Given the description of an element on the screen output the (x, y) to click on. 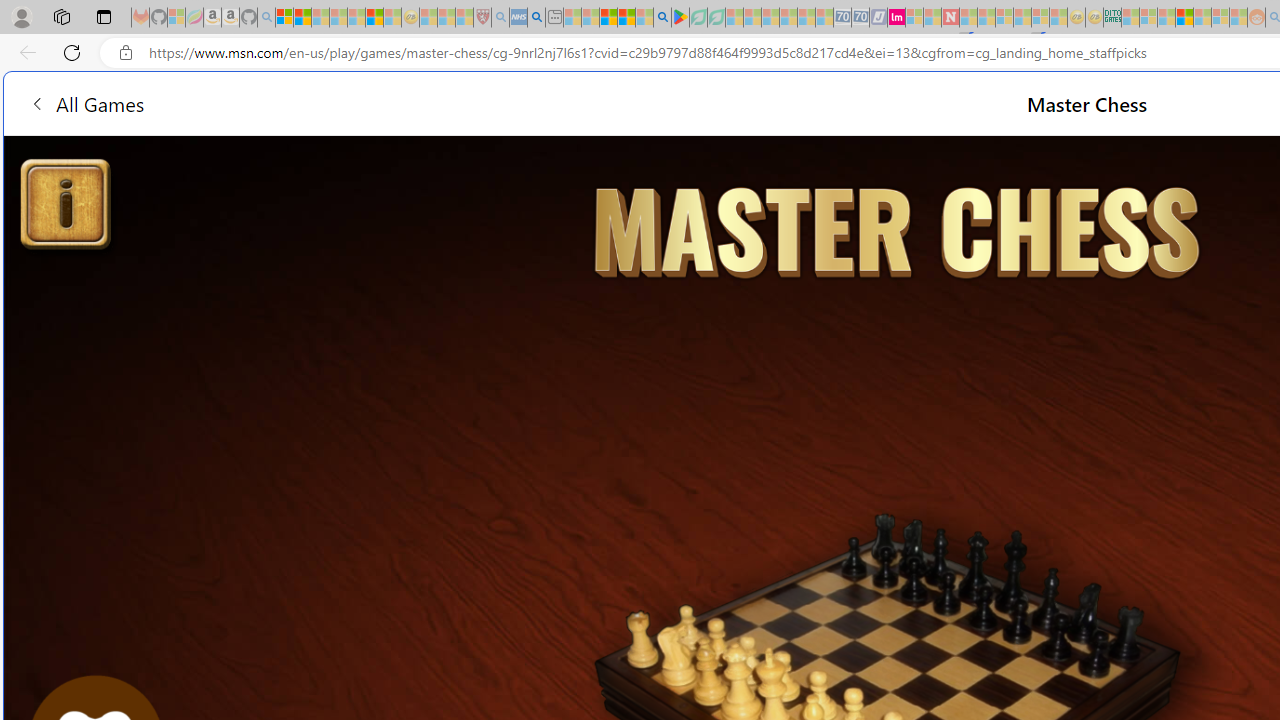
Kinda Frugal - MSN - Sleeping (1202, 17)
All Games (86, 102)
